Given the description of an element on the screen output the (x, y) to click on. 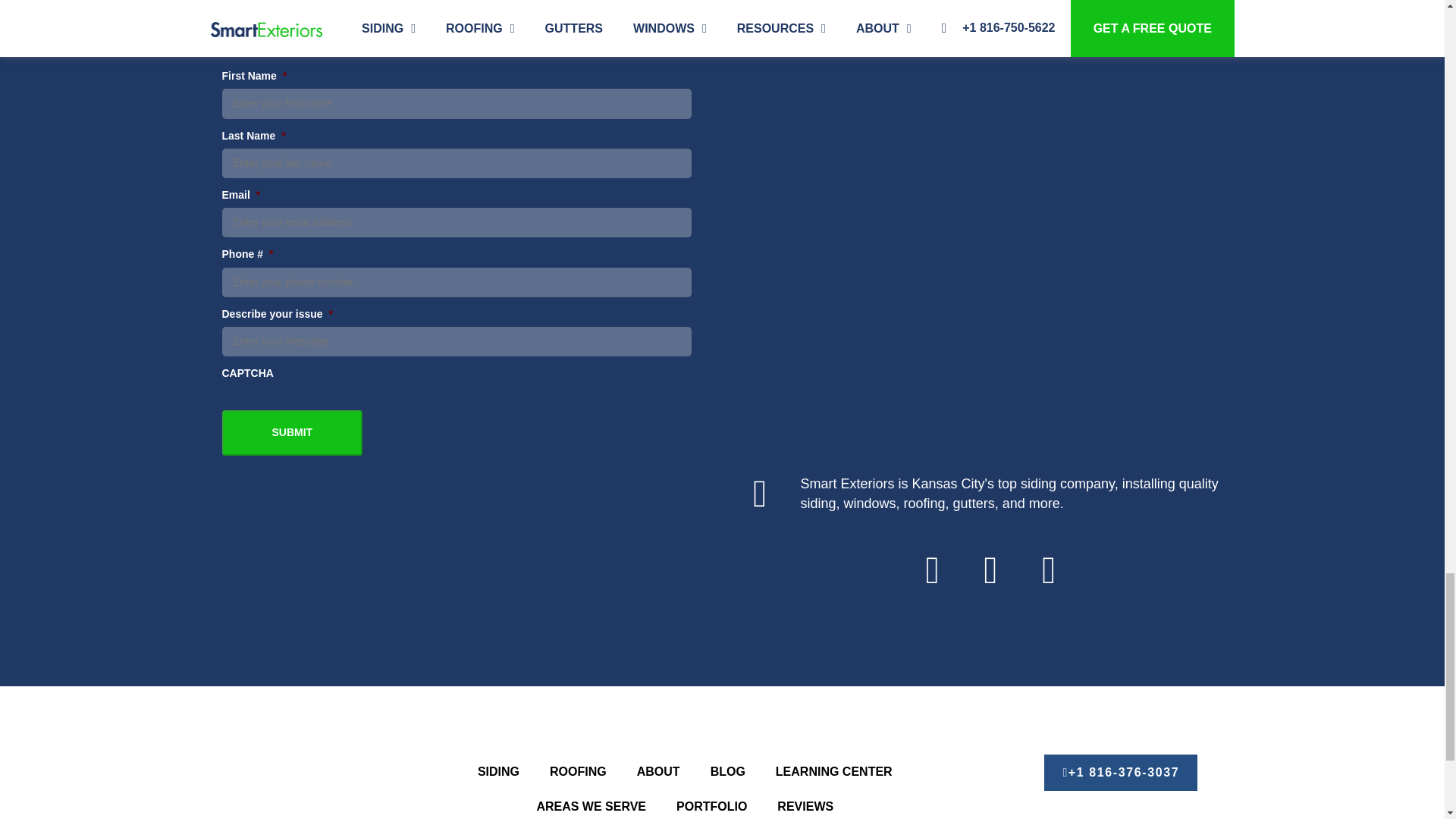
Submit (291, 432)
